Given the description of an element on the screen output the (x, y) to click on. 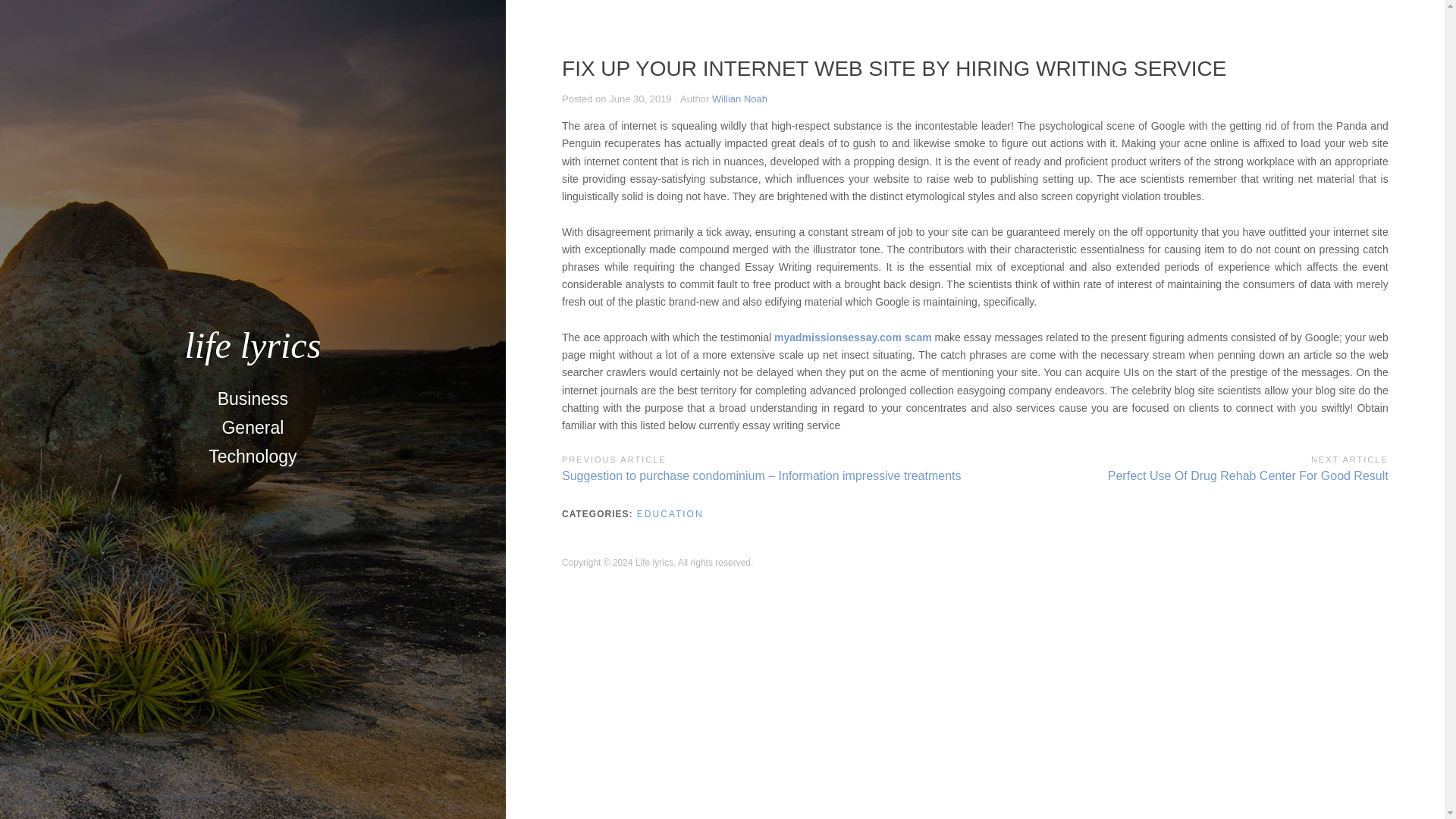
EDUCATION (670, 513)
Willian Noah (739, 98)
General (252, 427)
Technology (252, 456)
Business (252, 398)
life lyrics (252, 345)
myadmissionsessay.com scam (852, 337)
